Given the description of an element on the screen output the (x, y) to click on. 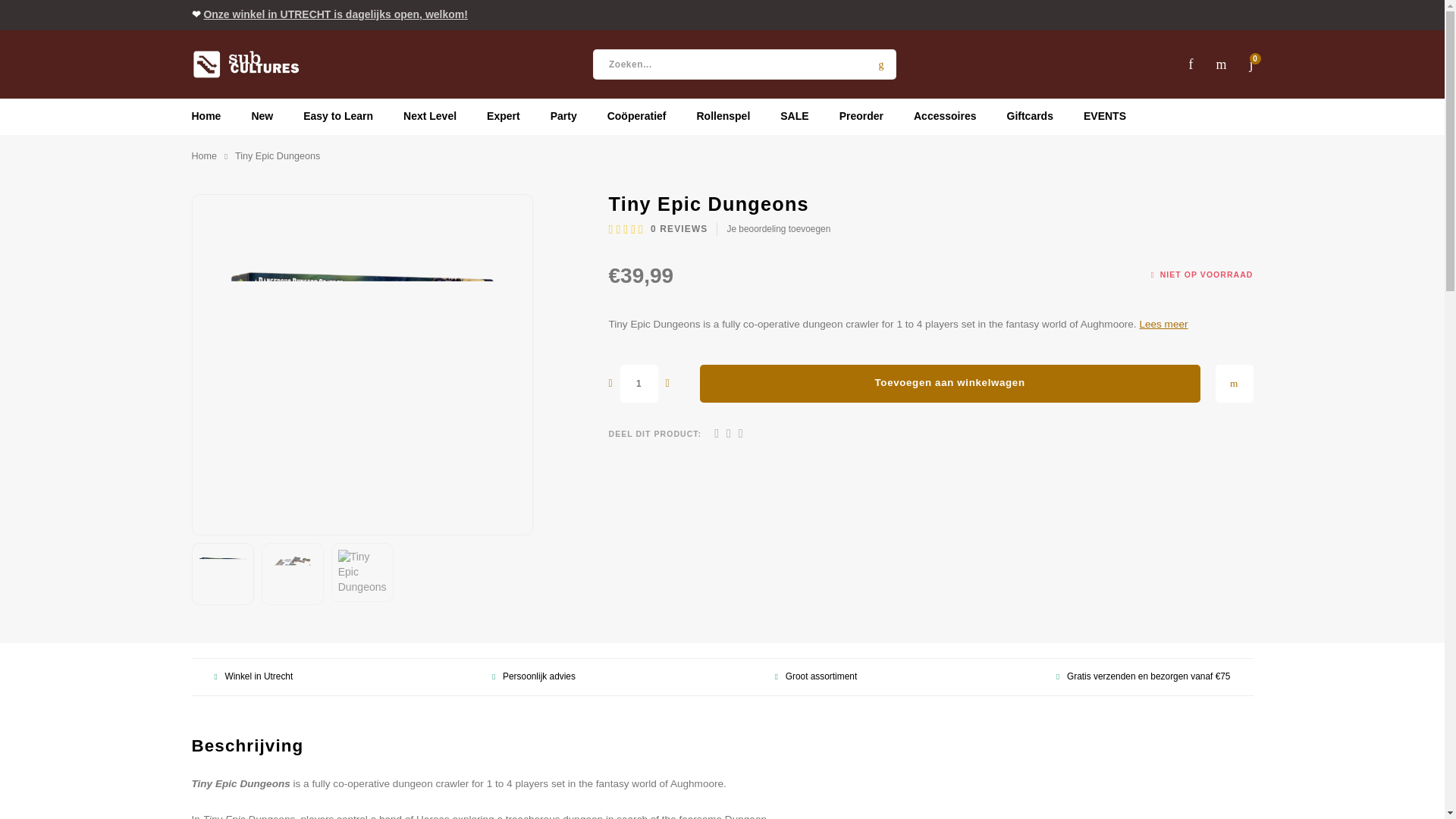
Toevoegen aan winkelwagen (949, 383)
Tiny Epic Dungeons (222, 573)
1 (639, 383)
Home (203, 156)
Tiny Epic Dungeons (361, 364)
Tiny Epic Dungeons (292, 573)
Tiny Epic Dungeons (362, 572)
Aan verlanglijst toevoegen (1233, 383)
Zoeken (881, 64)
